Given the description of an element on the screen output the (x, y) to click on. 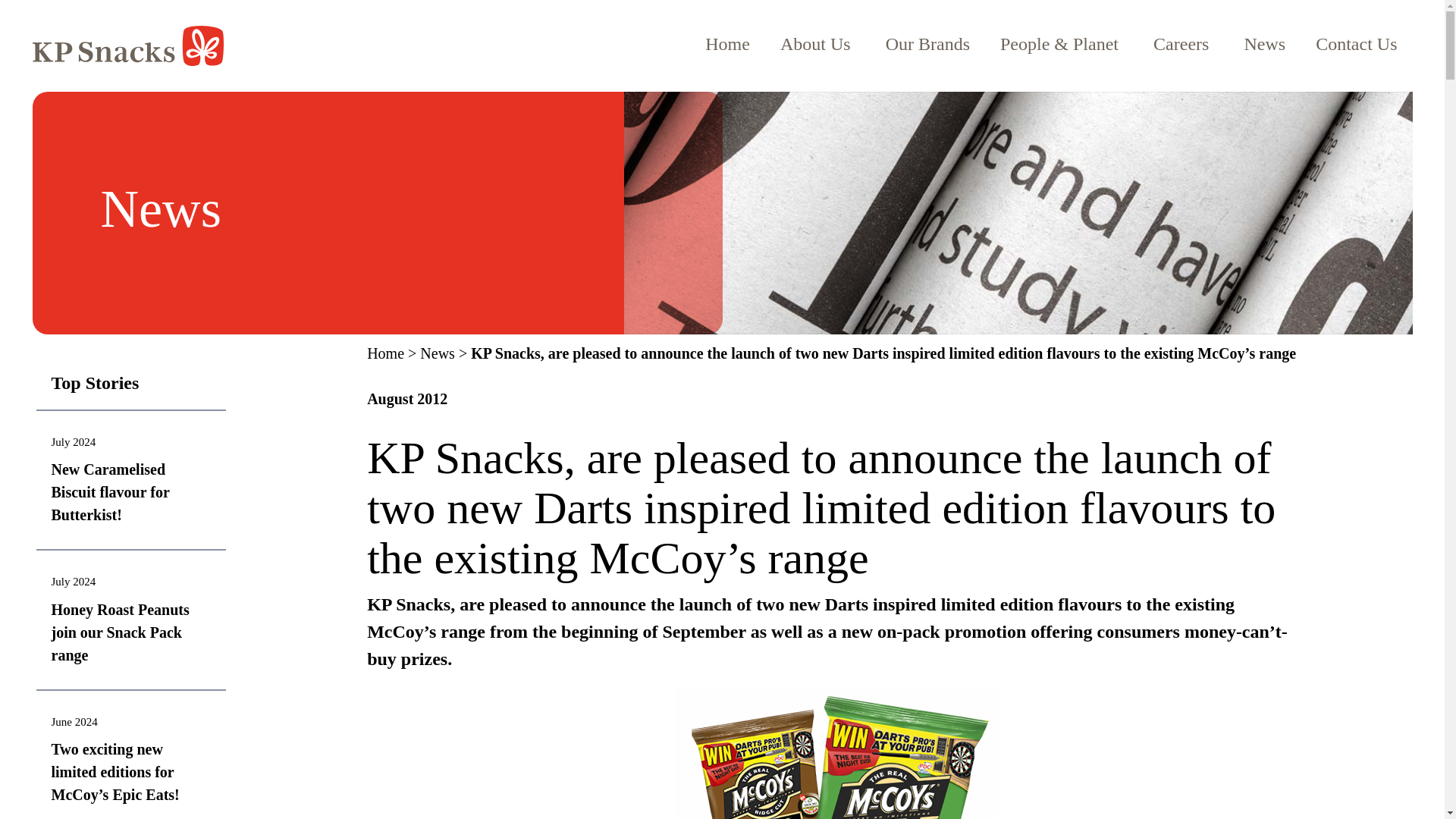
Careers (1183, 43)
News (1264, 43)
Careers (1183, 43)
Contact Us (1356, 43)
Honey Roast Peanuts join our Snack Pack range (119, 632)
Home (727, 43)
About Us (817, 43)
Our Brands (927, 43)
New Caramelised Biscuit flavour for Butterkist! (110, 492)
Home (727, 43)
Home (1264, 43)
Home (927, 43)
About Us (817, 43)
